Given the description of an element on the screen output the (x, y) to click on. 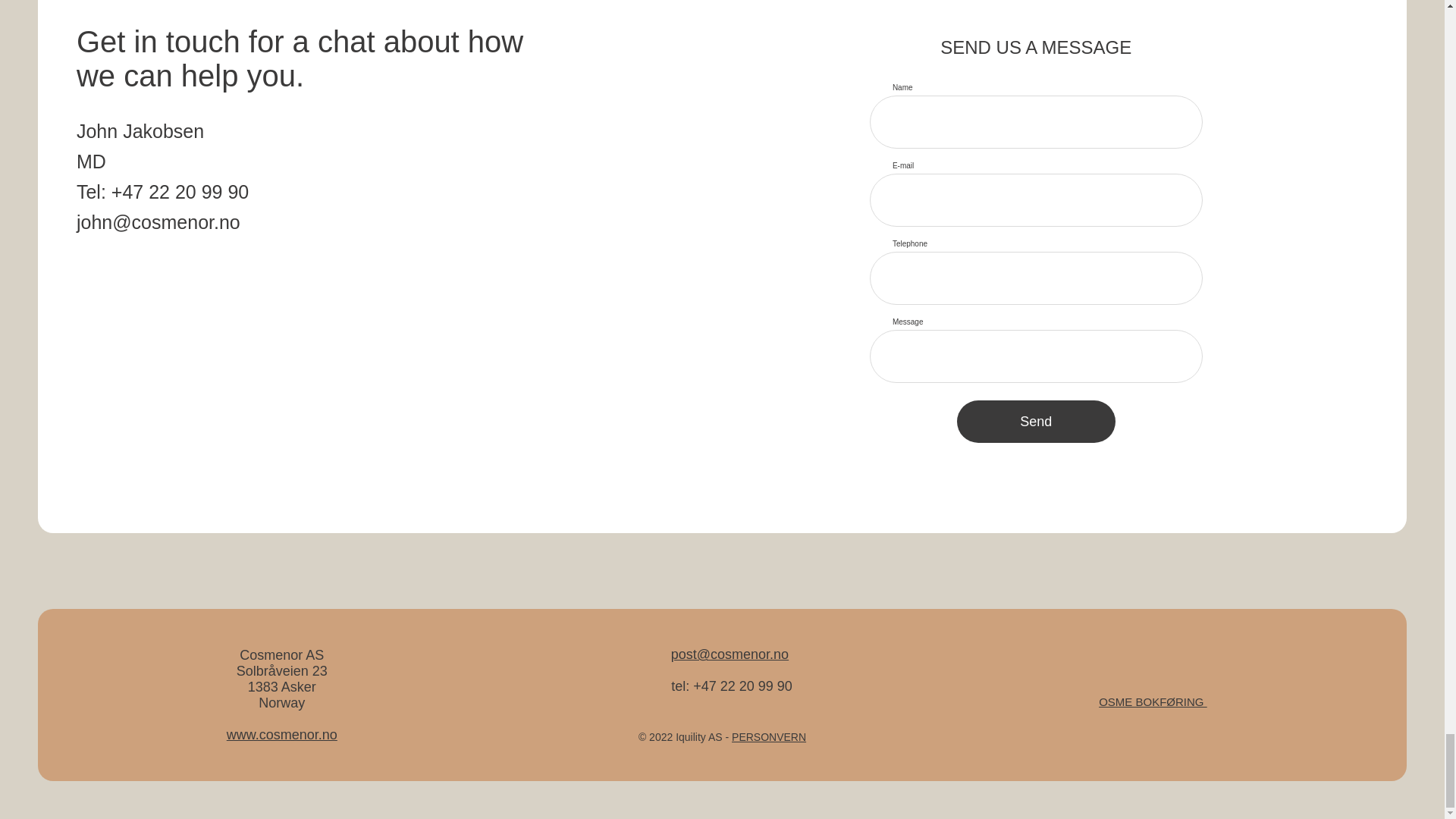
Send (1035, 421)
PERSONVERN (769, 736)
www.cosmenor.no (282, 734)
